Given the description of an element on the screen output the (x, y) to click on. 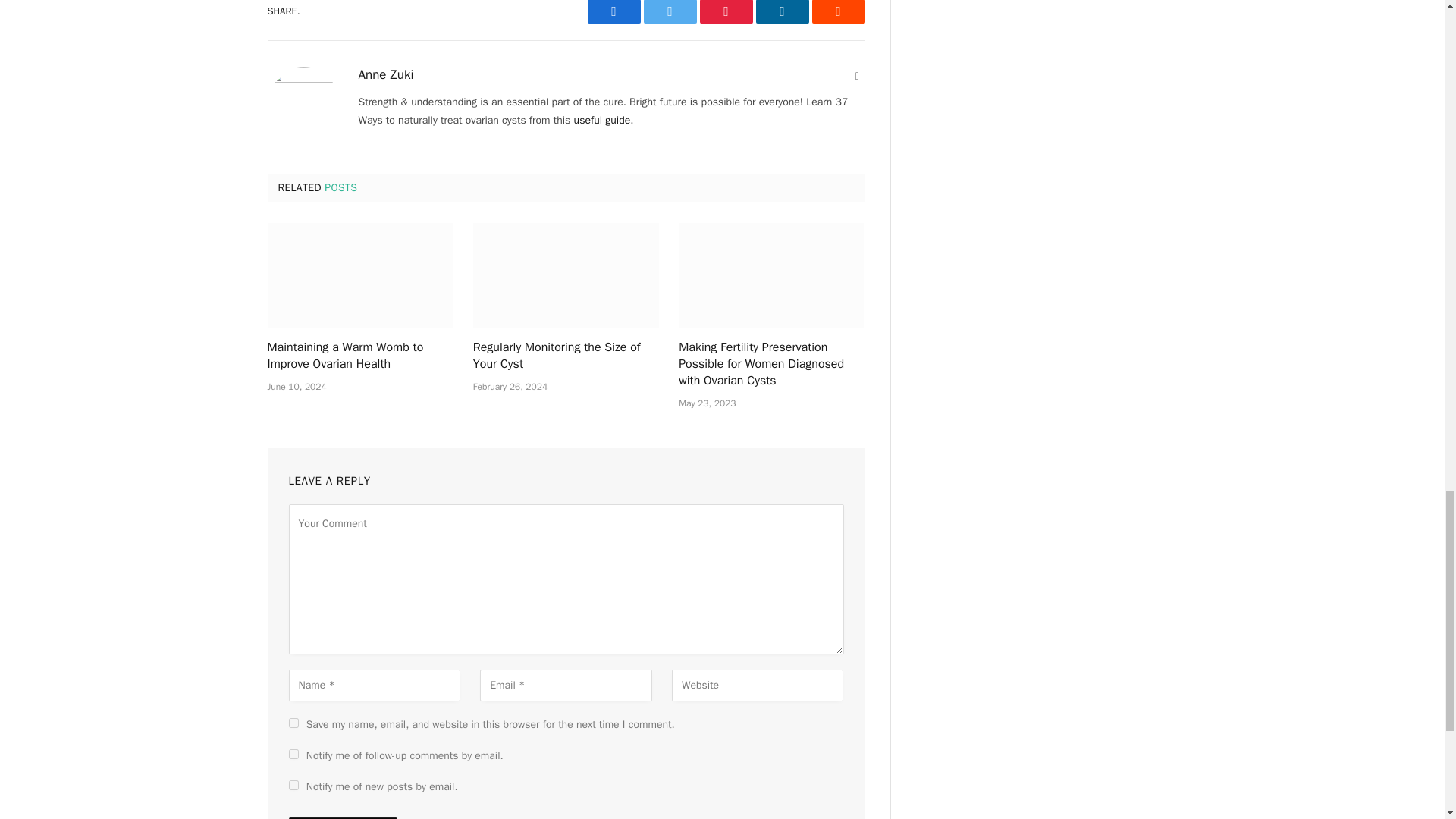
Pinterest (725, 11)
subscribe (293, 785)
Share on LinkedIn (781, 11)
Reddit (837, 11)
Anne Zuki (385, 74)
Website (856, 76)
LinkedIn (781, 11)
Regularly Monitoring the Size of Your Cyst (566, 356)
Share on Reddit (837, 11)
Maintaining a Warm Womb to Improve Ovarian Health (359, 356)
Share on Facebook (613, 11)
Post Comment (342, 818)
Facebook (613, 11)
Maintaining a Warm Womb to Improve Ovarian Health (359, 274)
subscribe (293, 754)
